Given the description of an element on the screen output the (x, y) to click on. 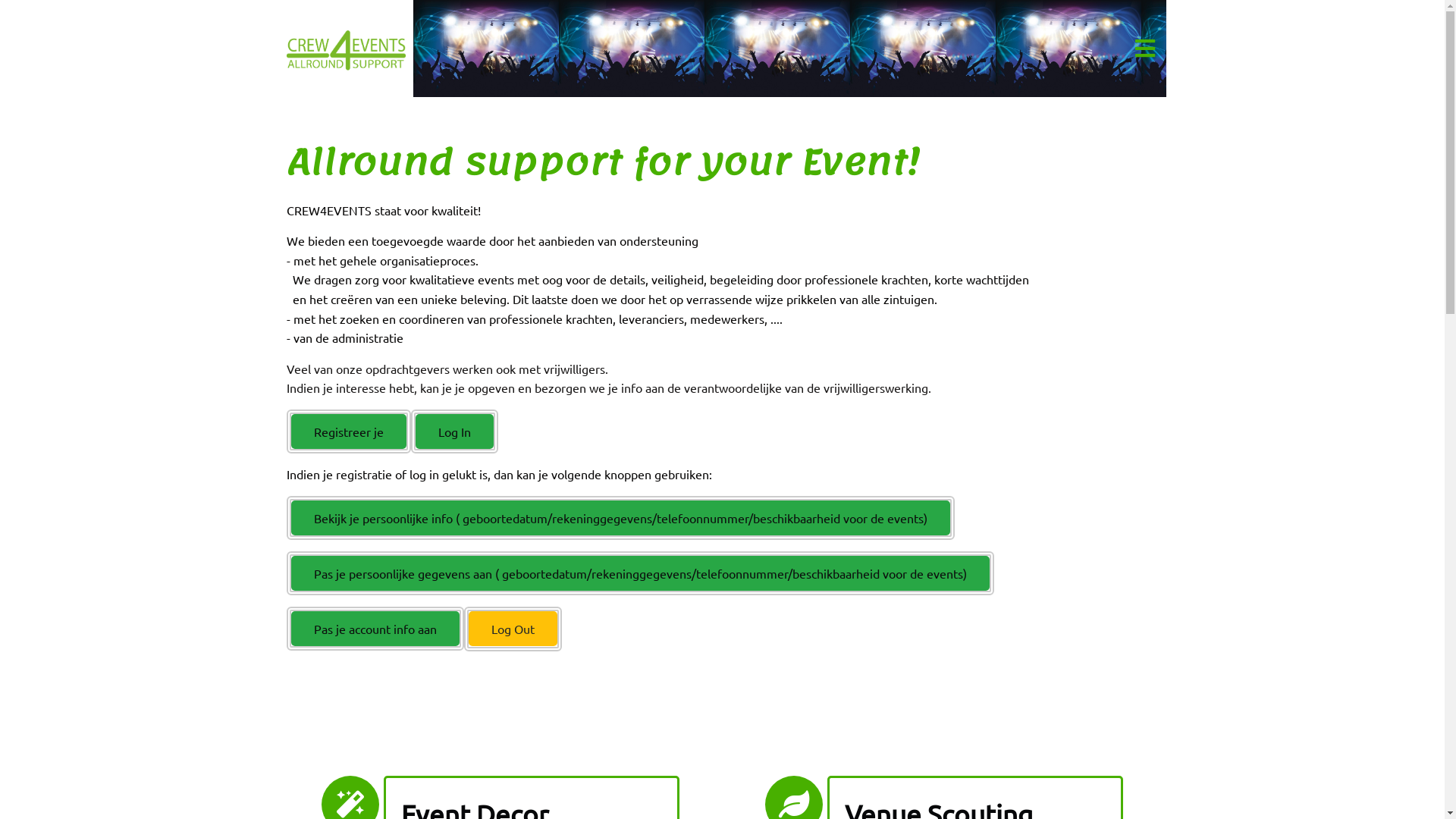
Registreer je Element type: text (348, 431)
C4E-kleren Element type: hover (346, 48)
Log In Element type: text (454, 431)
Pas je account info aan Element type: text (375, 628)
Log Out Element type: text (512, 628)
